Given the description of an element on the screen output the (x, y) to click on. 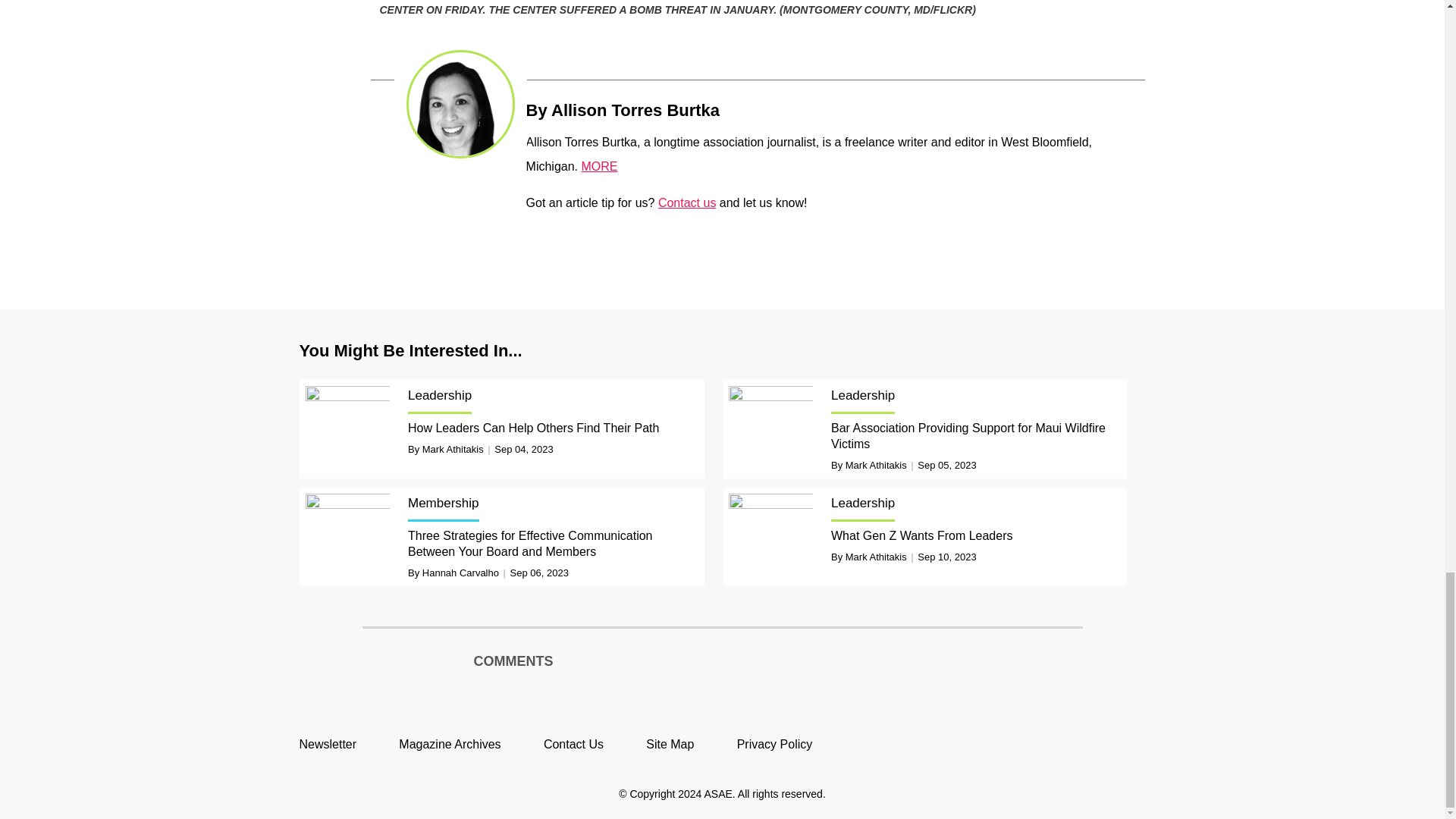
Visit us onFacebook (1063, 743)
Visit us onLinkedIn (1098, 743)
Email (735, 108)
Contact us (687, 202)
Visit us onTwitter (1029, 743)
Mail (735, 108)
MORE (598, 165)
